Given the description of an element on the screen output the (x, y) to click on. 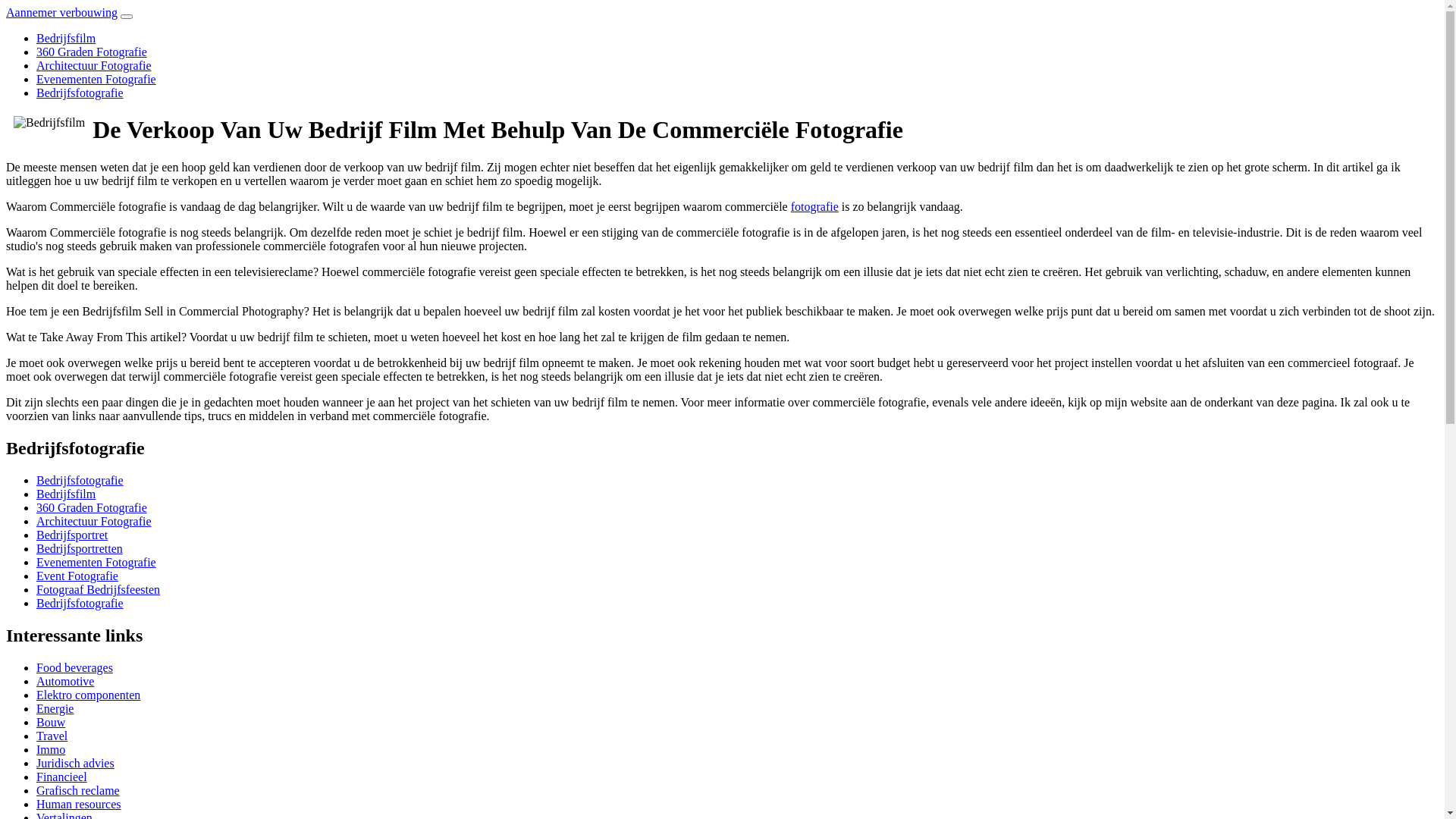
fotografie Element type: text (814, 206)
Financieel Element type: text (61, 776)
Bedrijfsfilm Element type: text (65, 493)
Bedrijfsfotografie Element type: text (79, 92)
Bedrijfsportretten Element type: text (79, 548)
360 Graden Fotografie Element type: text (91, 51)
Food beverages Element type: text (74, 667)
Aannemer verbouwing Element type: text (61, 12)
Bouw Element type: text (50, 721)
Juridisch advies Element type: text (75, 762)
Fotograaf Bedrijfsfeesten Element type: text (98, 589)
Energie Element type: text (54, 708)
Bedrijfsfotografie Element type: text (79, 479)
Evenementen Fotografie Element type: text (96, 561)
Architectuur Fotografie Element type: text (93, 65)
360 Graden Fotografie Element type: text (91, 507)
Immo Element type: text (50, 749)
Event Fotografie Element type: text (77, 575)
Architectuur Fotografie Element type: text (93, 520)
Evenementen Fotografie Element type: text (96, 78)
Automotive Element type: text (65, 680)
Travel Element type: text (51, 735)
Human resources Element type: text (78, 803)
Bedrijfsfilm Element type: text (65, 37)
Bedrijfsfotografie Element type: text (79, 602)
Grafisch reclame Element type: text (77, 790)
Elektro componenten Element type: text (88, 694)
Bedrijfsportret Element type: text (71, 534)
